Given the description of an element on the screen output the (x, y) to click on. 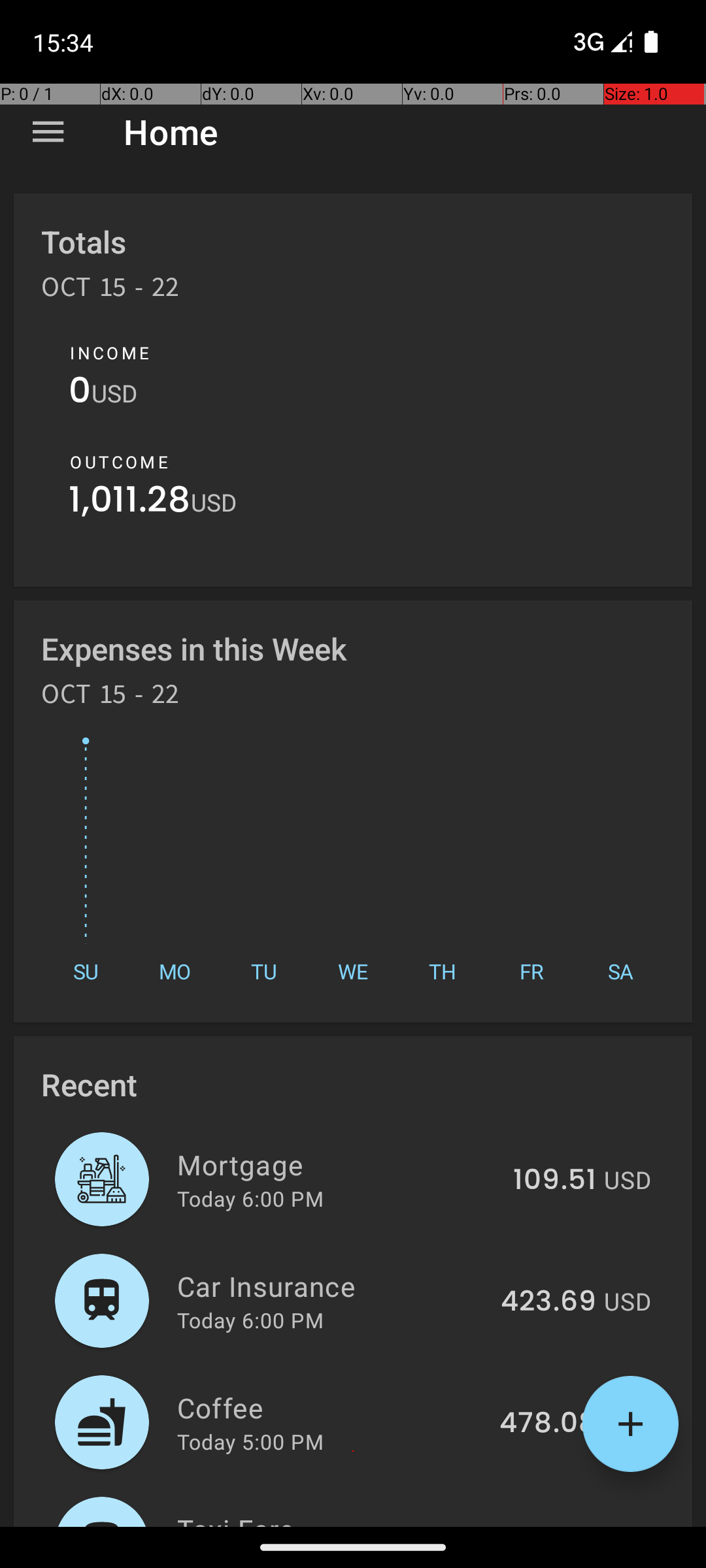
1,011.28 Element type: android.widget.TextView (129, 502)
Mortgage Element type: android.widget.TextView (337, 1164)
Today 6:00 PM Element type: android.widget.TextView (250, 1198)
109.51 Element type: android.widget.TextView (554, 1180)
Car Insurance Element type: android.widget.TextView (331, 1285)
423.69 Element type: android.widget.TextView (548, 1301)
Coffee Element type: android.widget.TextView (330, 1407)
Today 5:00 PM Element type: android.widget.TextView (250, 1441)
478.08 Element type: android.widget.TextView (547, 1423)
Taxi Fare Element type: android.widget.TextView (337, 1518)
110.65 Element type: android.widget.TextView (554, 1524)
